Given the description of an element on the screen output the (x, y) to click on. 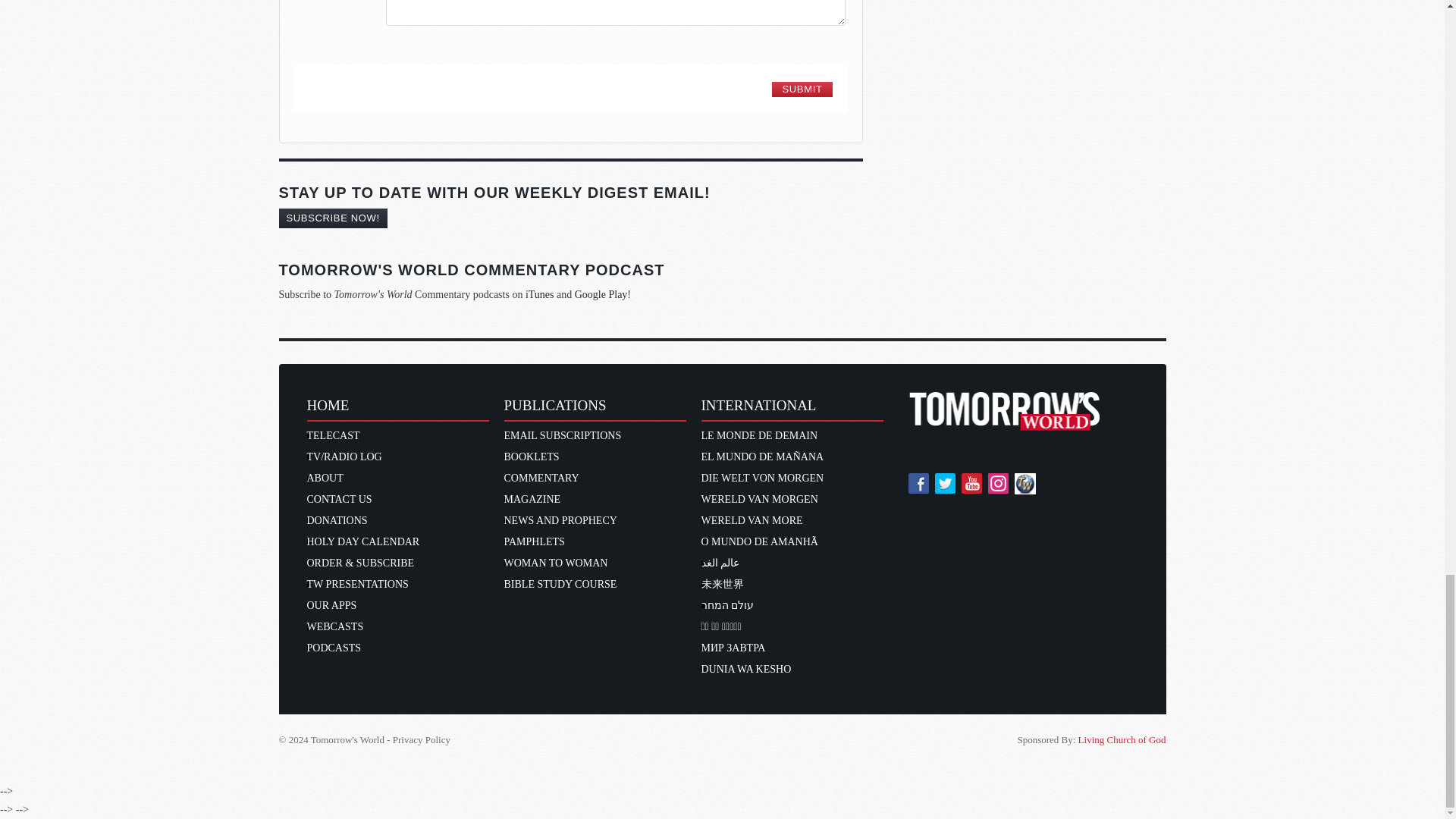
Submit (801, 89)
Submit (801, 89)
SUBSCRIBE NOW! (333, 218)
iTunes (539, 294)
Google Play (601, 294)
